Given the description of an element on the screen output the (x, y) to click on. 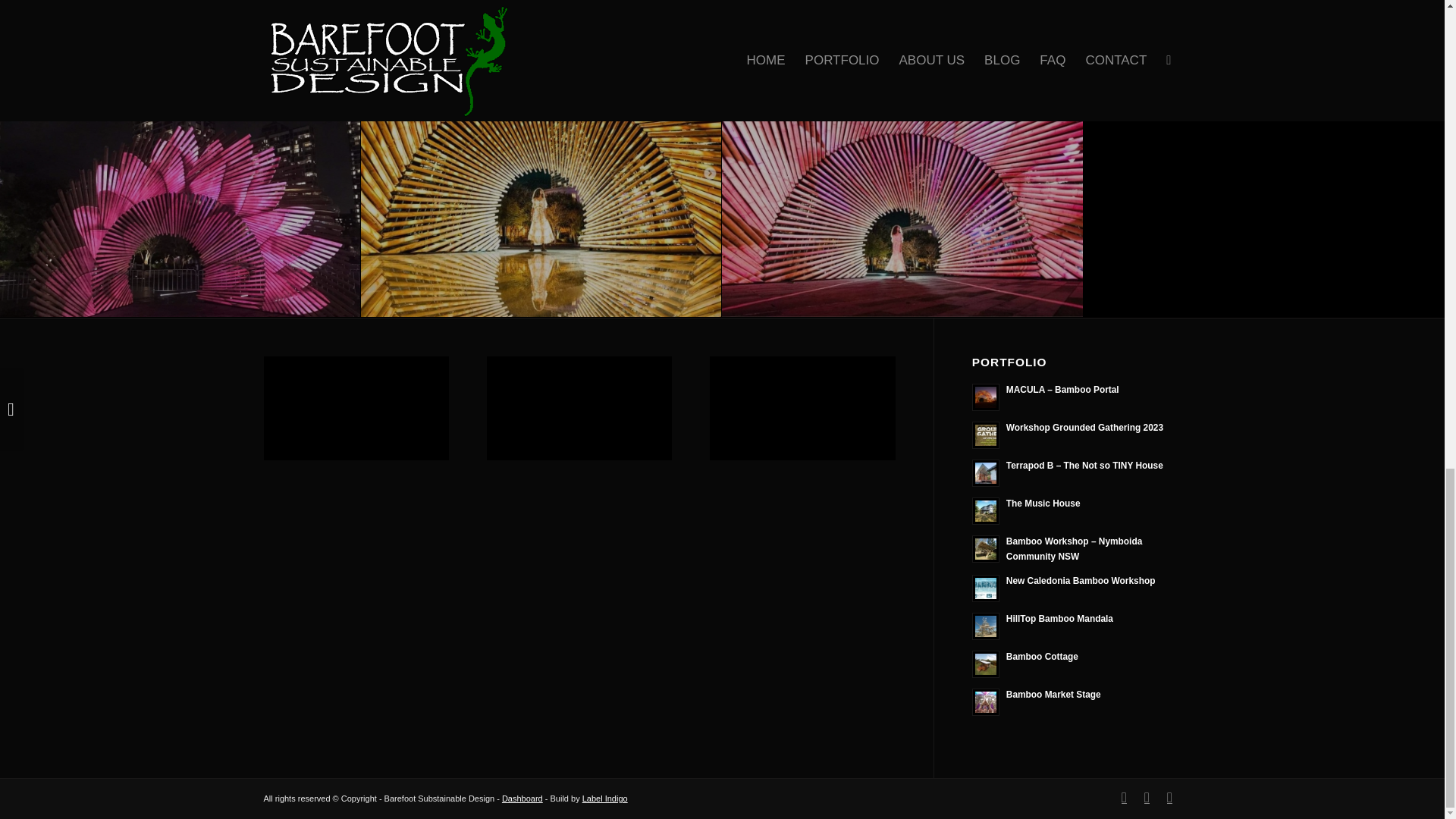
Vivid Portal 2 (360, 13)
Vivid Portal (1082, 13)
Vivid Portal (1083, 14)
Bamboo Cottage (1076, 662)
Bamboo Market Stage (1076, 700)
Vivid Portal 2 (361, 14)
Workshop Grounded Gathering 2023 (1076, 433)
The Music House (1076, 509)
Dashboard (522, 798)
Label Indigo (604, 798)
HillTop Bamboo Mandala (1076, 624)
New Caledonia Bamboo Workshop (1076, 586)
